Given the description of an element on the screen output the (x, y) to click on. 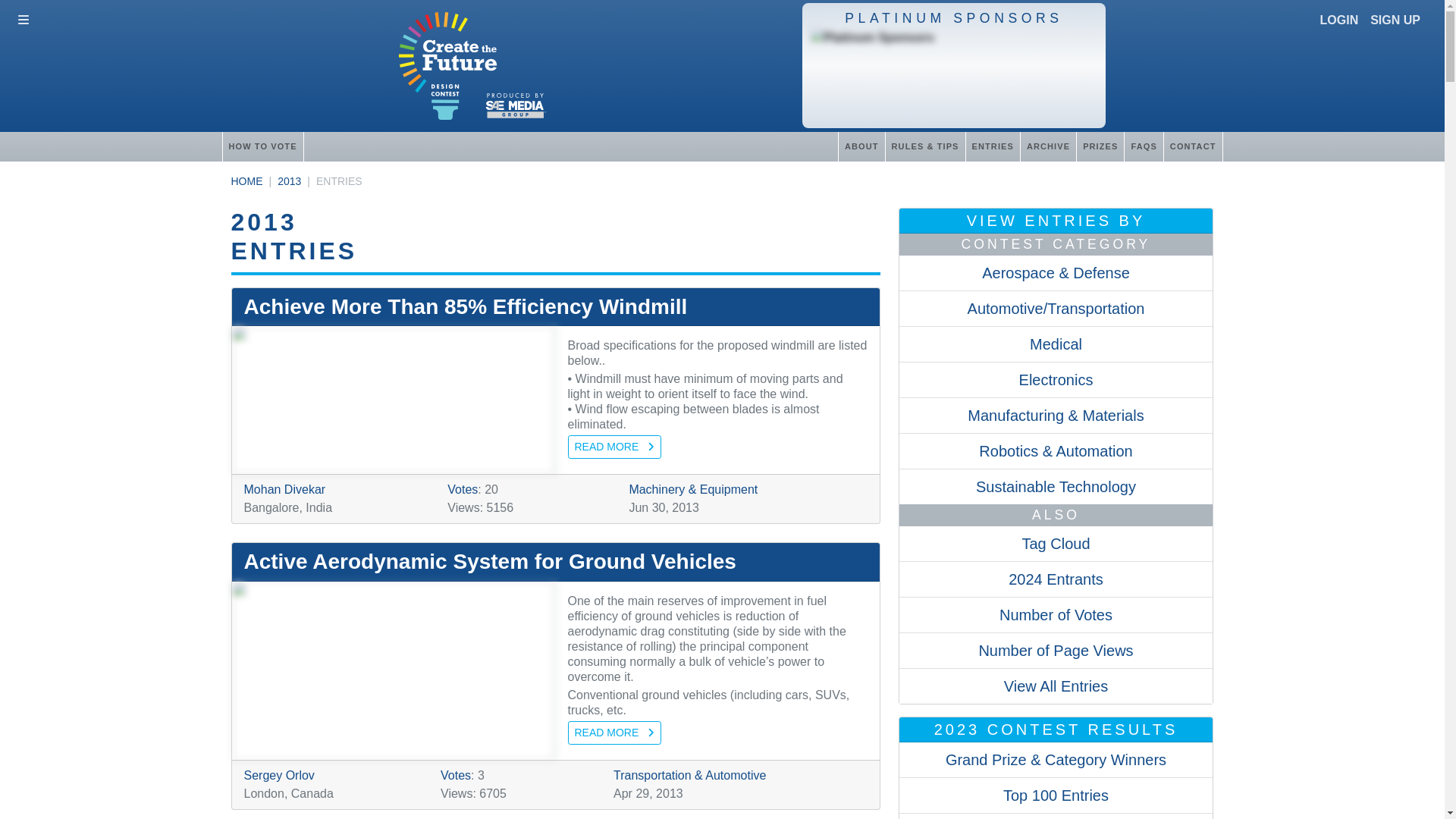
ARCHIVE (1047, 146)
FAQS (1142, 146)
Sergey Orlov (279, 775)
CONTACT (1193, 146)
READ MORE (614, 732)
HOW TO VOTE (261, 146)
SIGN UP (1395, 20)
Active Aerodynamic System for Ground Vehicles (555, 561)
READ MORE (614, 446)
Votes (455, 775)
